Given the description of an element on the screen output the (x, y) to click on. 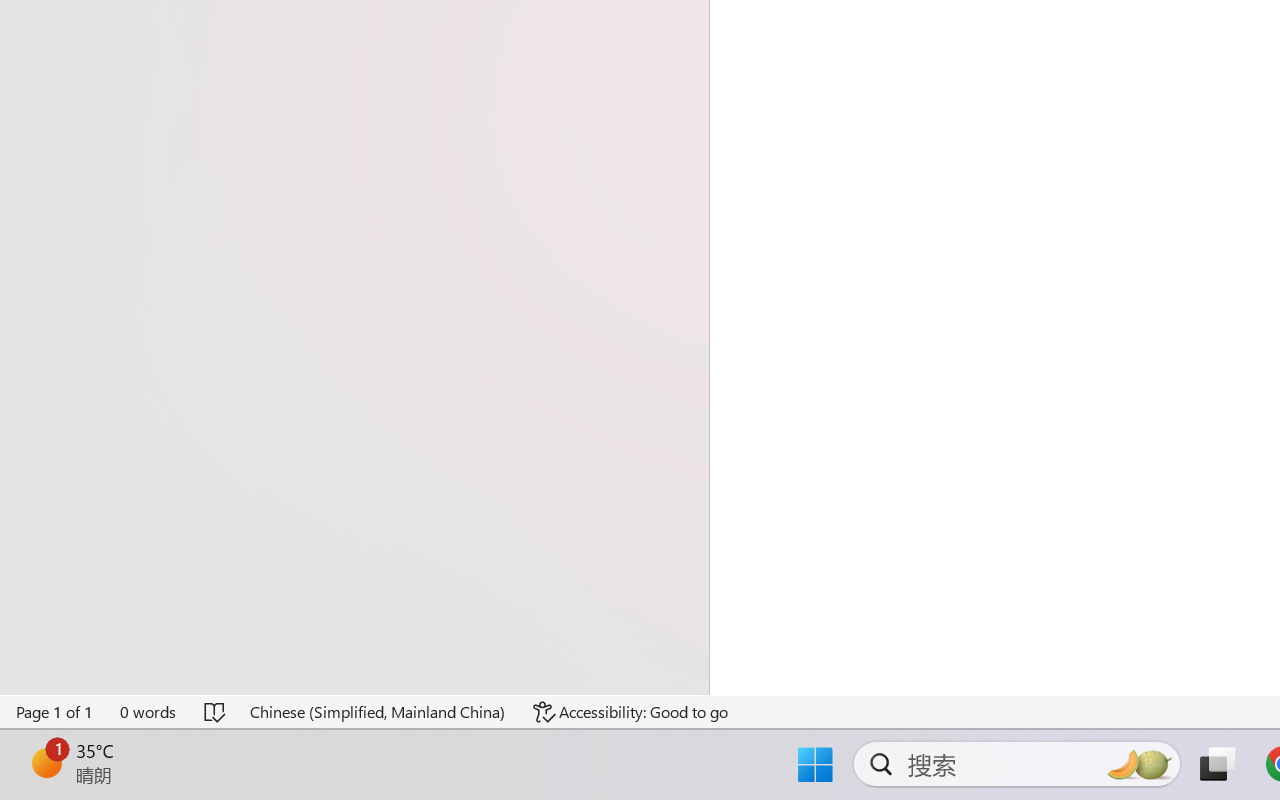
Language Chinese (Simplified, Mainland China) (378, 712)
